Given the description of an element on the screen output the (x, y) to click on. 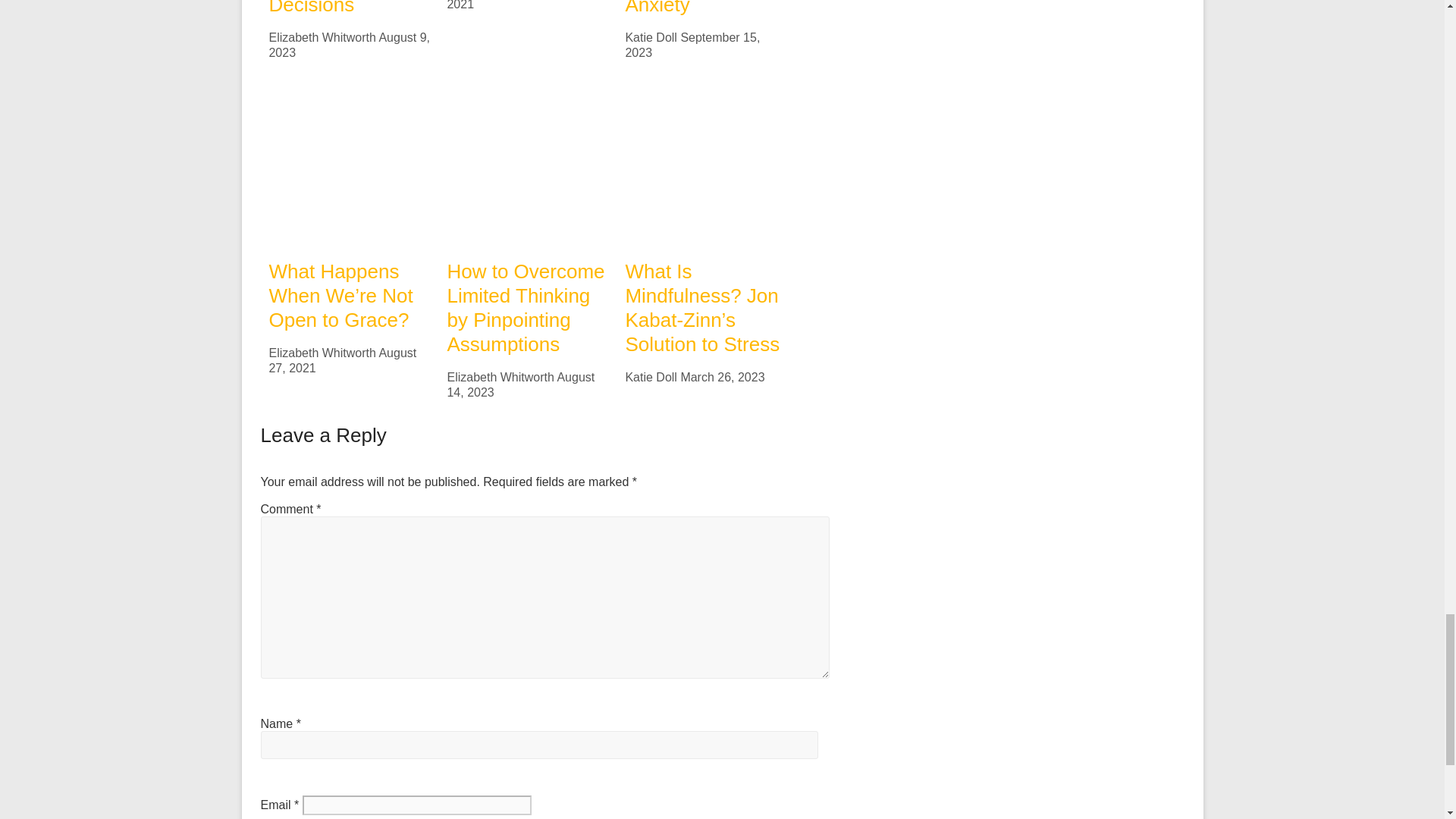
9:27 am (520, 5)
1:56 pm (692, 44)
How to Reprogram Your Subconscious Mind to Defeat Anxiety (696, 7)
1:59 pm (348, 44)
